Given the description of an element on the screen output the (x, y) to click on. 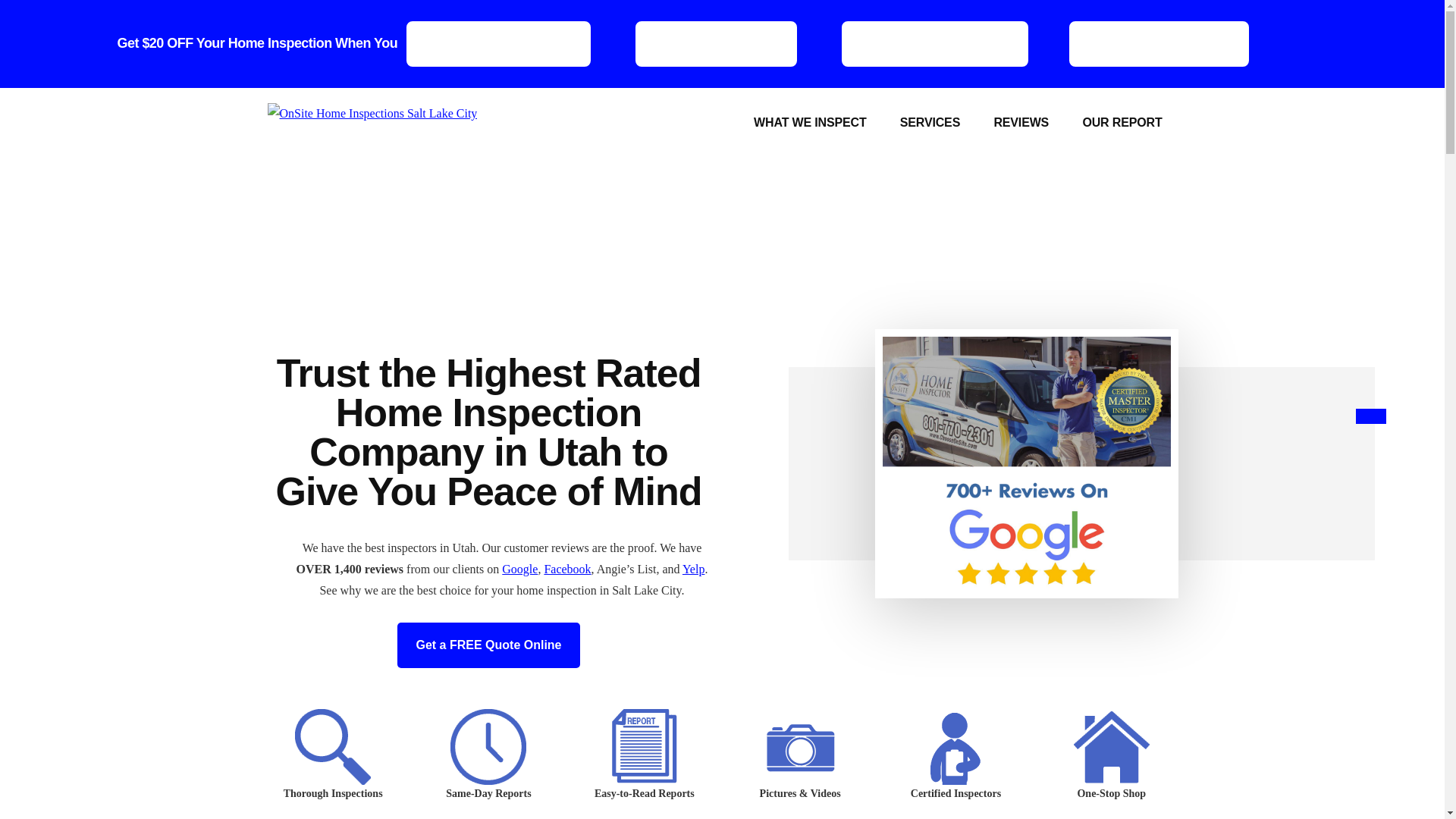
Yelp (693, 568)
Get a FREE Quote Online (498, 43)
REVIEWS (1021, 122)
Google (519, 568)
Tap to Text 801-770-2301 (1158, 43)
Schedule Online Now (716, 43)
Click to Call 801-770-2301 (934, 43)
WHAT WE INSPECT (809, 122)
SERVICES (930, 122)
Facebook (567, 568)
Get a FREE Quote Online (488, 645)
OUR REPORT (1121, 122)
